Given the description of an element on the screen output the (x, y) to click on. 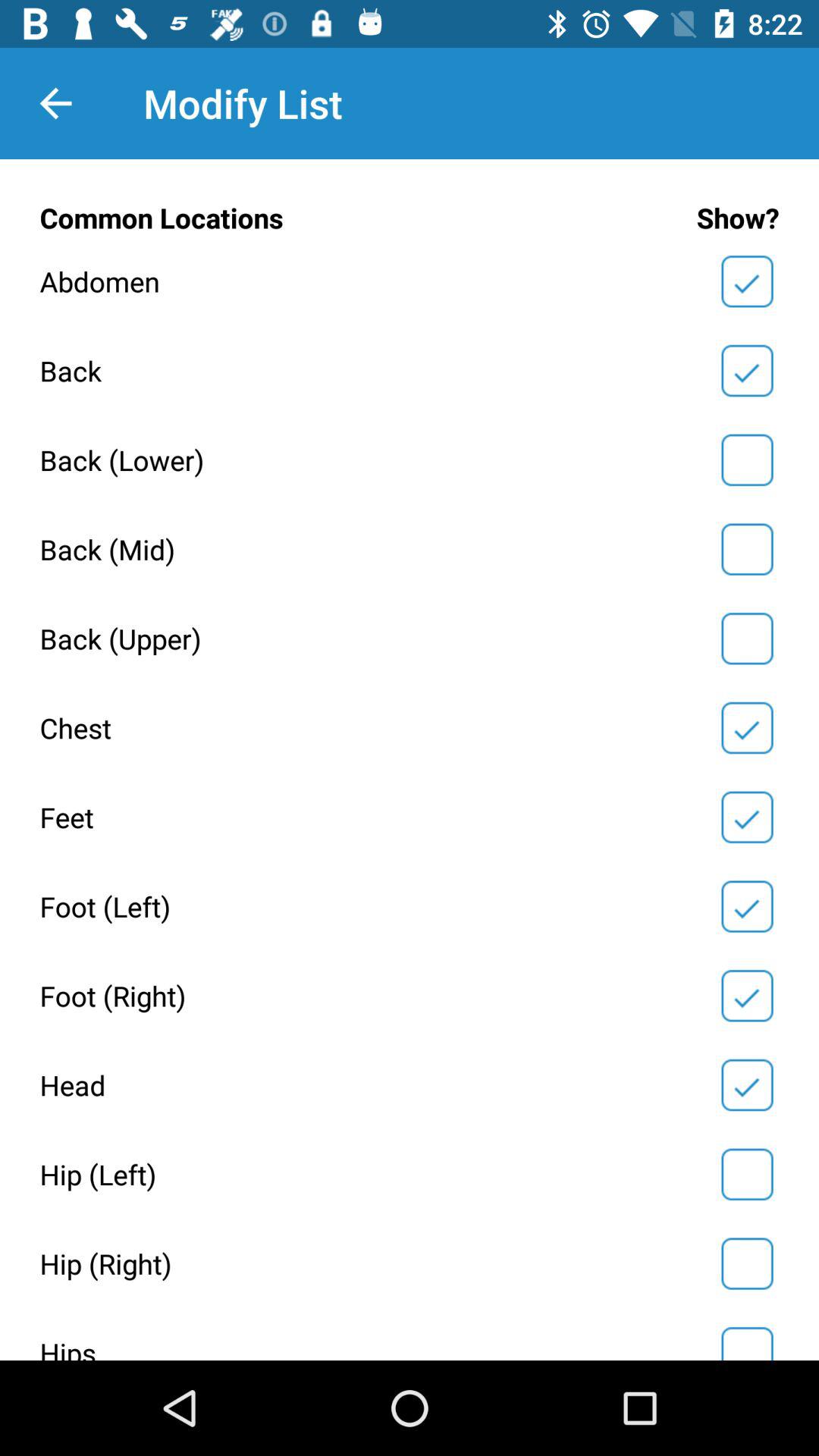
mark box (747, 1263)
